Given the description of an element on the screen output the (x, y) to click on. 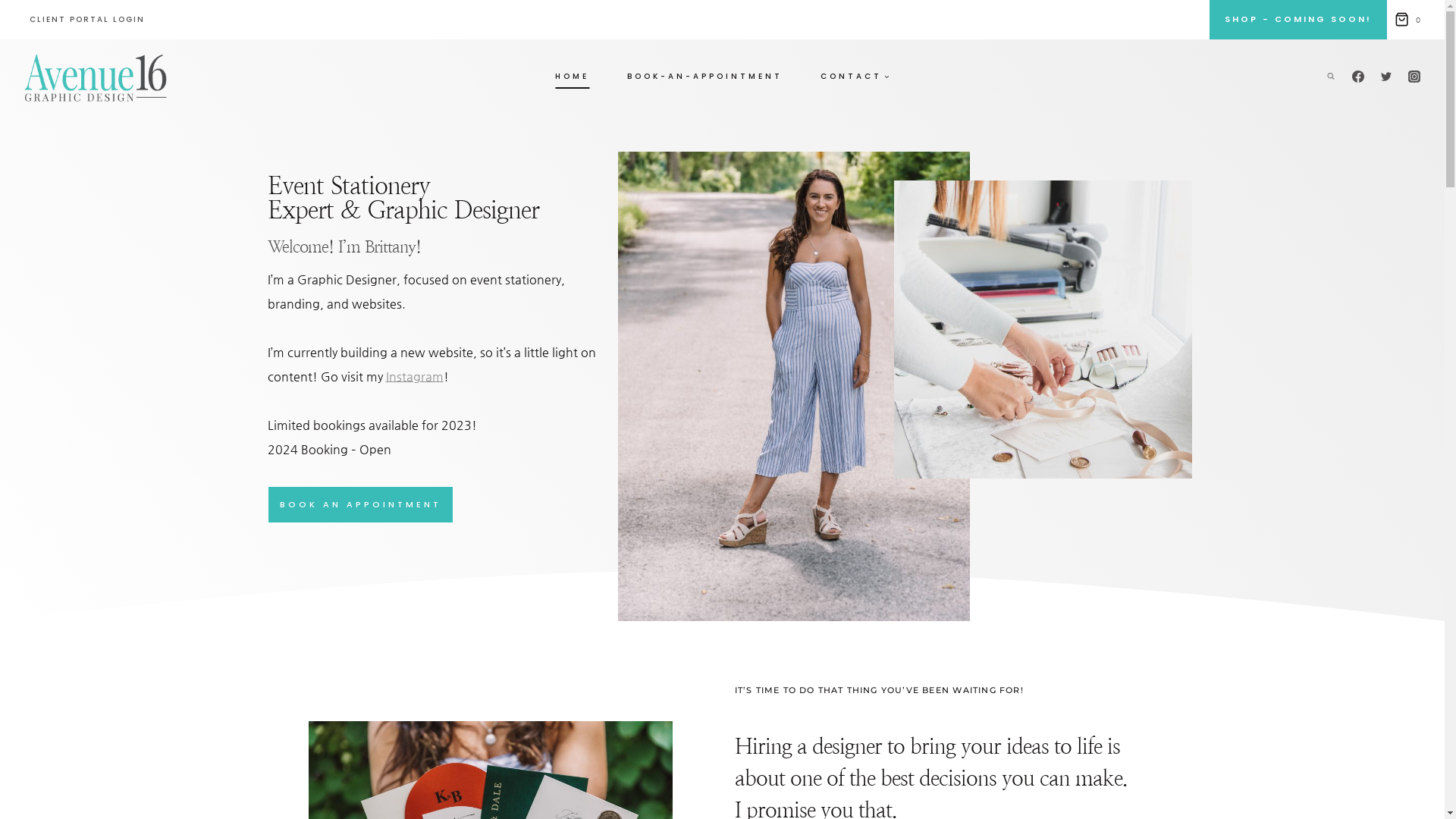
Instagram Element type: text (413, 376)
BOOK AN APPOINTMENT Element type: text (359, 505)
0 Element type: text (1410, 19)
SHOP - COMING SOON! Element type: text (1297, 19)
CLIENT PORTAL LOGIN Element type: text (87, 19)
HOME Element type: text (572, 75)
BOOK-AN-APPOINTMENT Element type: text (704, 75)
CONTACT Element type: text (854, 75)
